Given the description of an element on the screen output the (x, y) to click on. 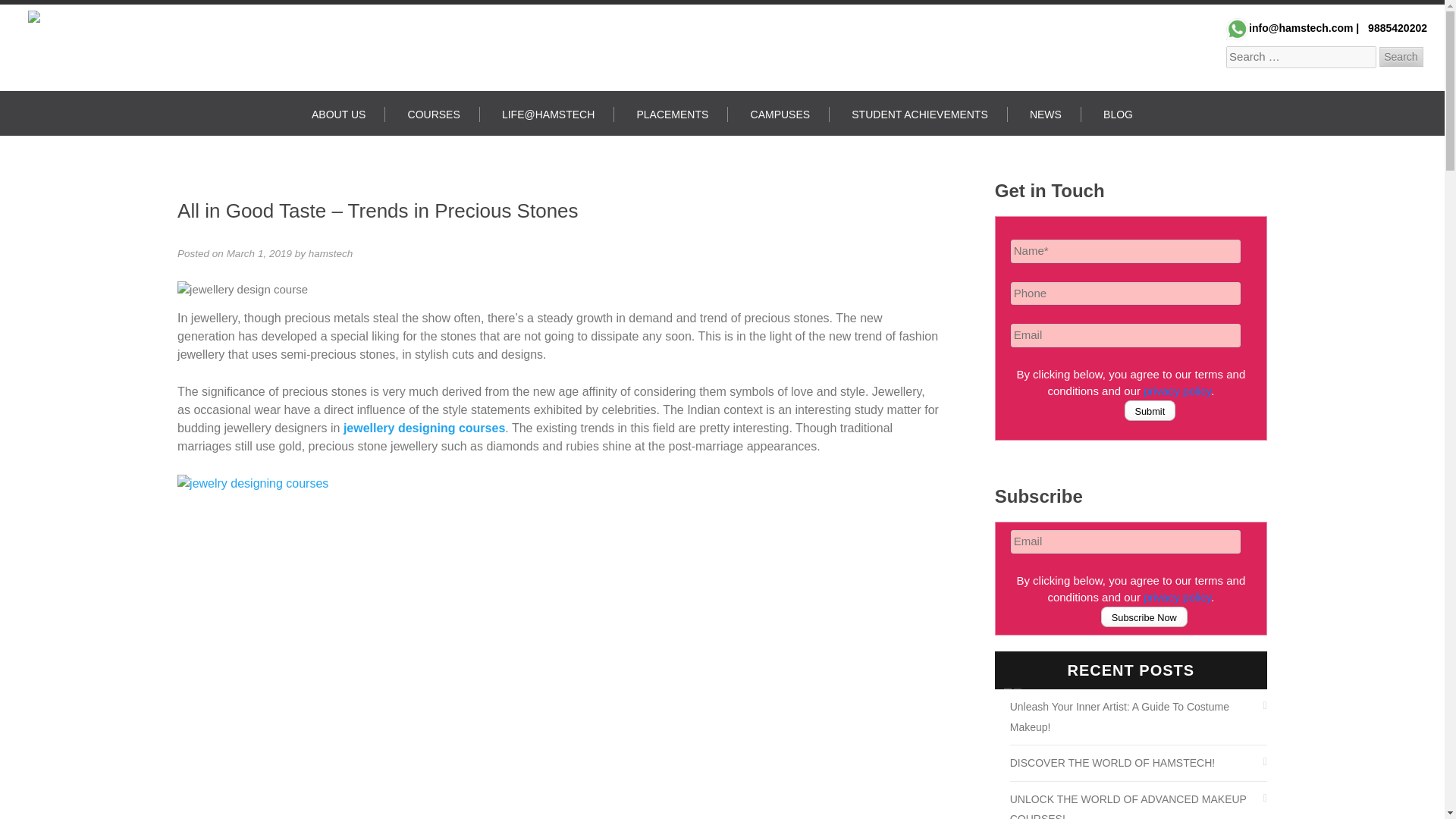
CAMPUSES (780, 113)
ABOUT US (338, 113)
Subscribe Now (1144, 617)
STUDENT ACHIEVEMENTS (919, 113)
jewellery design course (242, 289)
COURSES (434, 113)
 9885420202 (1395, 28)
NEWS (1045, 113)
Search (1400, 56)
